Given the description of an element on the screen output the (x, y) to click on. 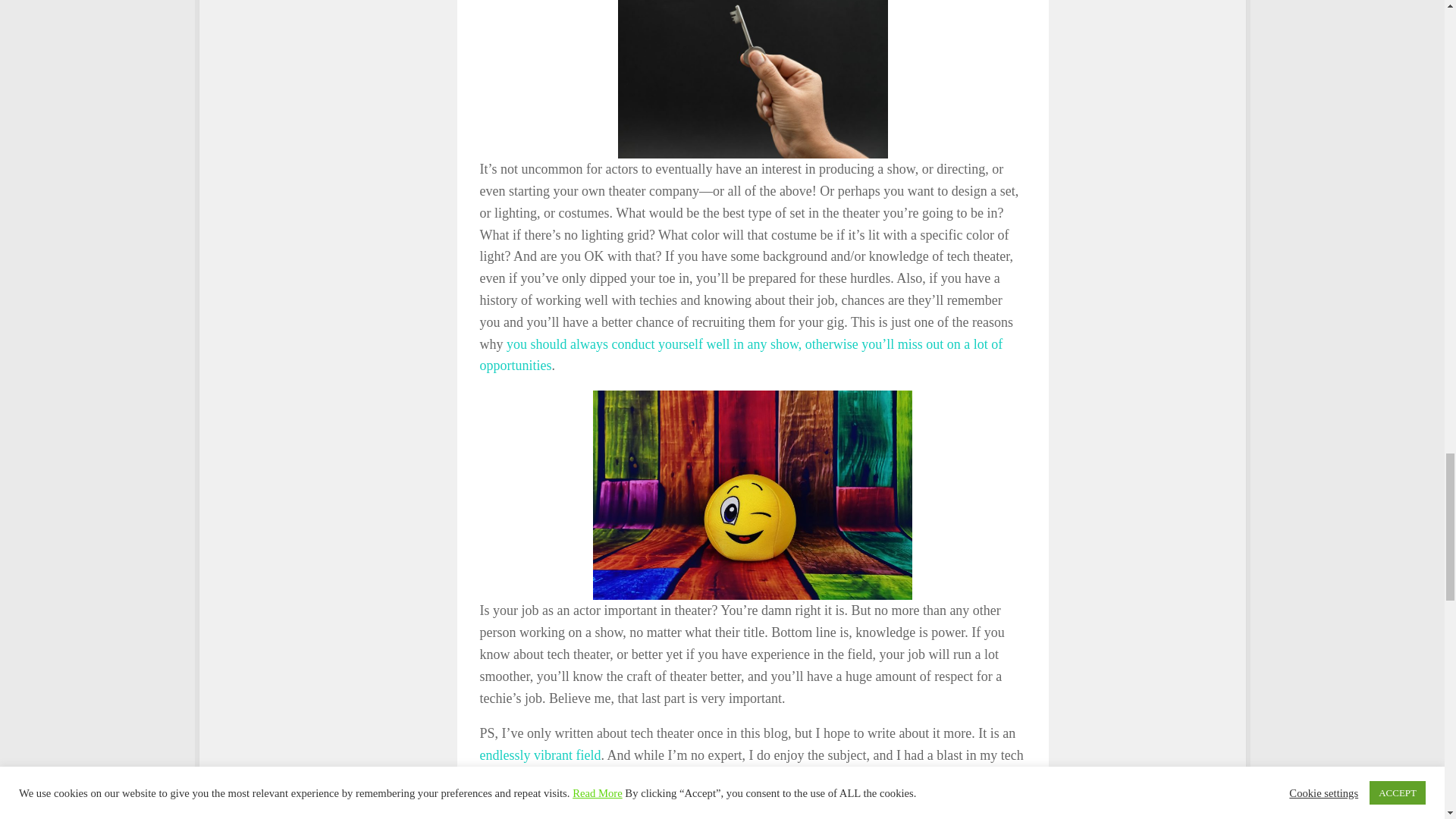
Instagram (583, 811)
Facebook (493, 811)
Pinterest (612, 811)
Tumblr (553, 811)
Twitter (524, 811)
endlessly vibrant field (539, 754)
